Given the description of an element on the screen output the (x, y) to click on. 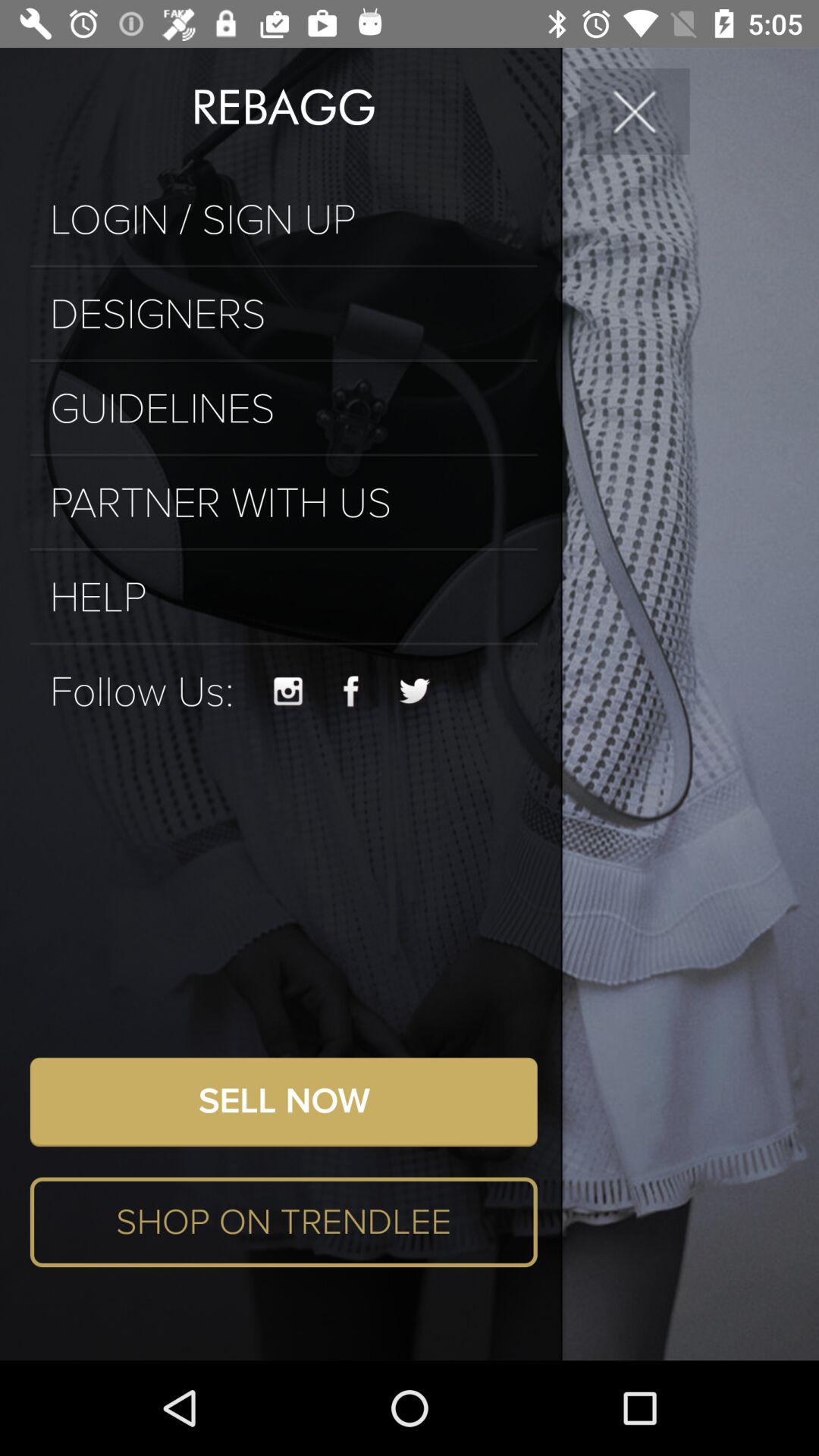
select the item below help item (283, 643)
